Given the description of an element on the screen output the (x, y) to click on. 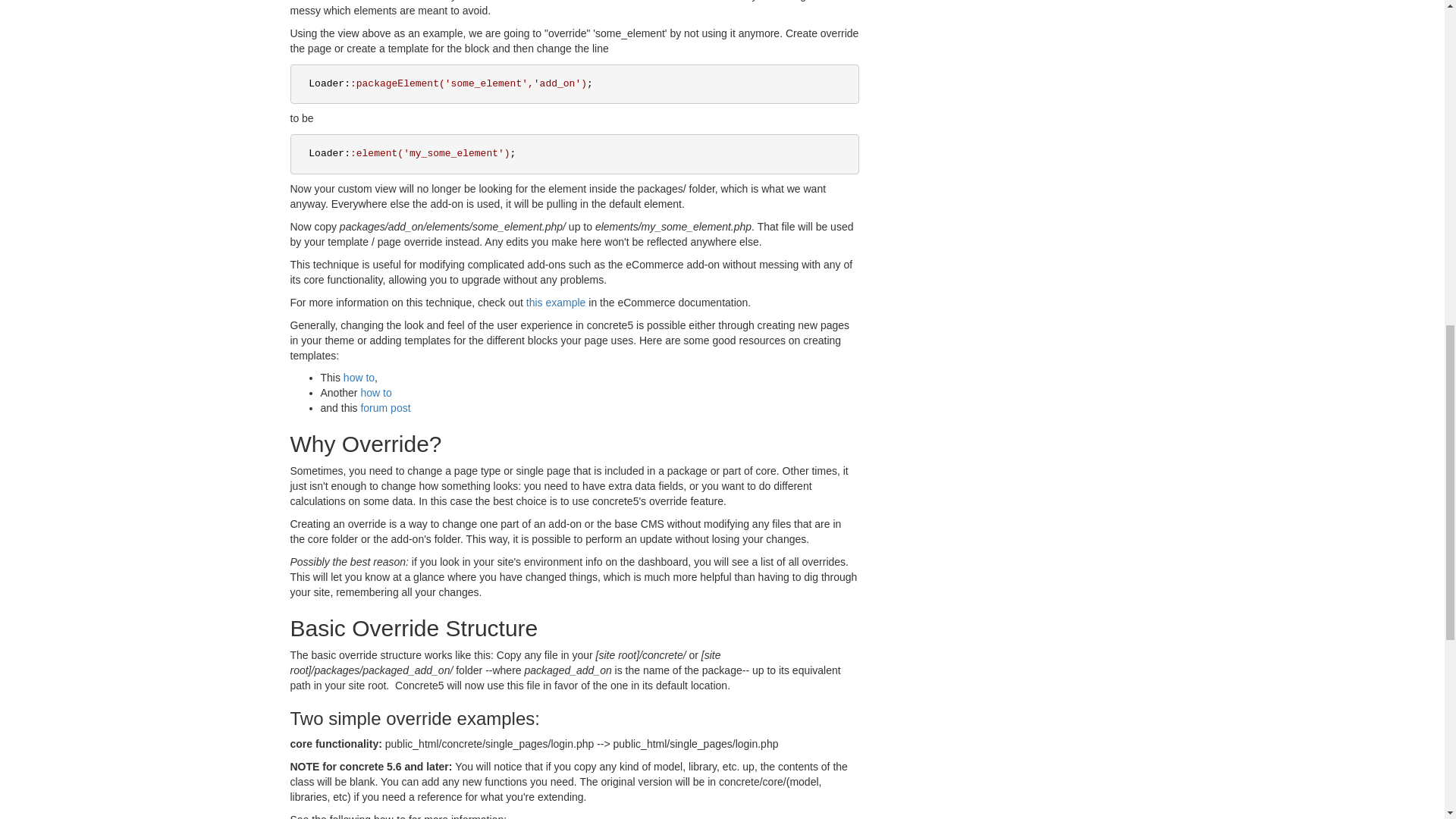
how to (358, 377)
how to (375, 392)
this example (555, 302)
forum post (384, 408)
